Given the description of an element on the screen output the (x, y) to click on. 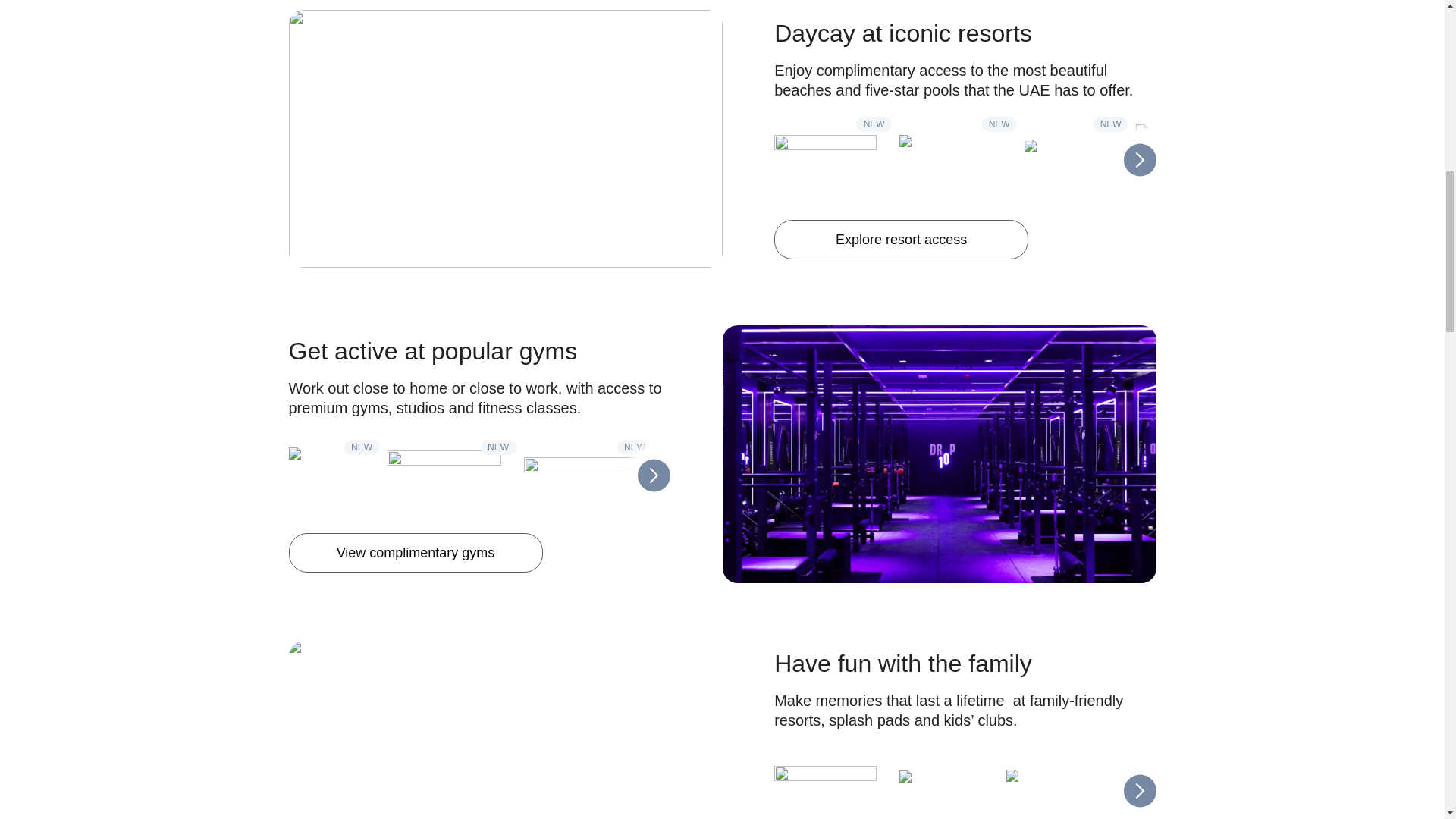
BCH:CLB grey logo (1069, 164)
Explore resort access (900, 239)
View complimentary gyms (414, 552)
voco grey logo (950, 163)
The 8 grey logo (1187, 163)
